Given the description of an element on the screen output the (x, y) to click on. 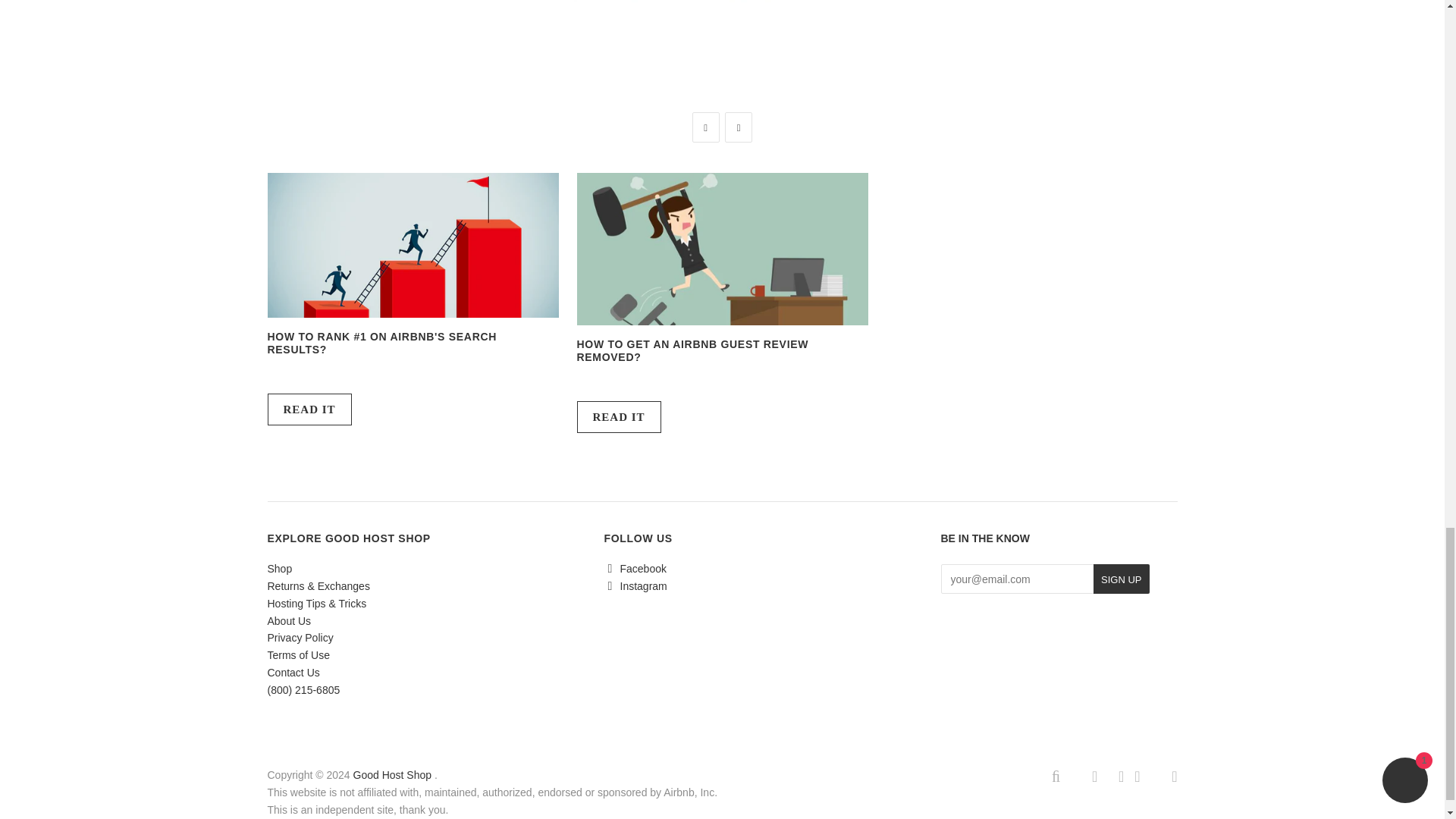
Good Host Shop on Instagram (635, 585)
Good Host Shop on Facebook (634, 568)
SIGN UP (1120, 578)
